Given the description of an element on the screen output the (x, y) to click on. 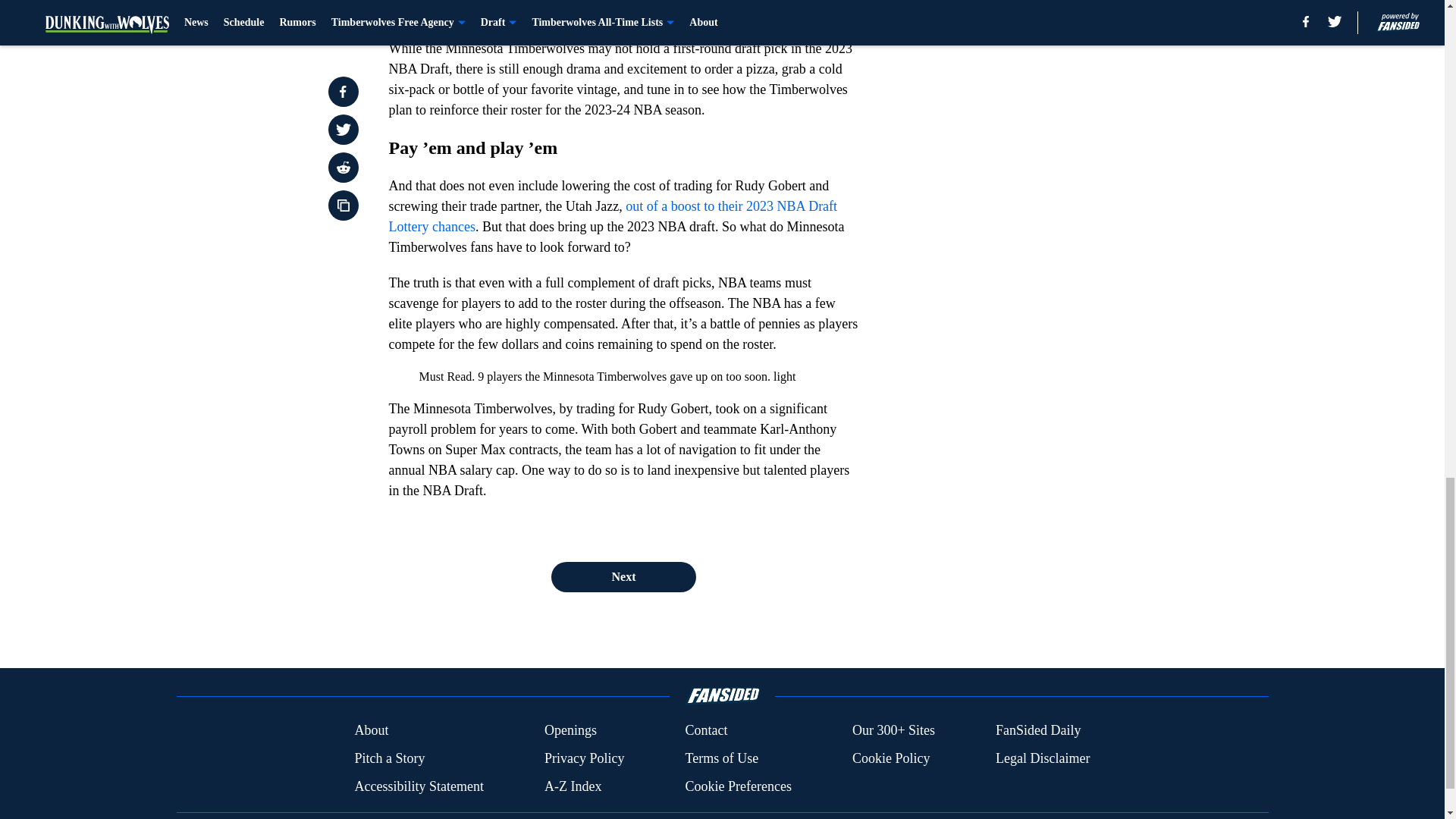
About (370, 730)
have long-term benefits for the team (619, 10)
out of a boost to their 2023 NBA Draft Lottery chances (612, 216)
Next (622, 576)
Openings (570, 730)
Contact (705, 730)
